Given the description of an element on the screen output the (x, y) to click on. 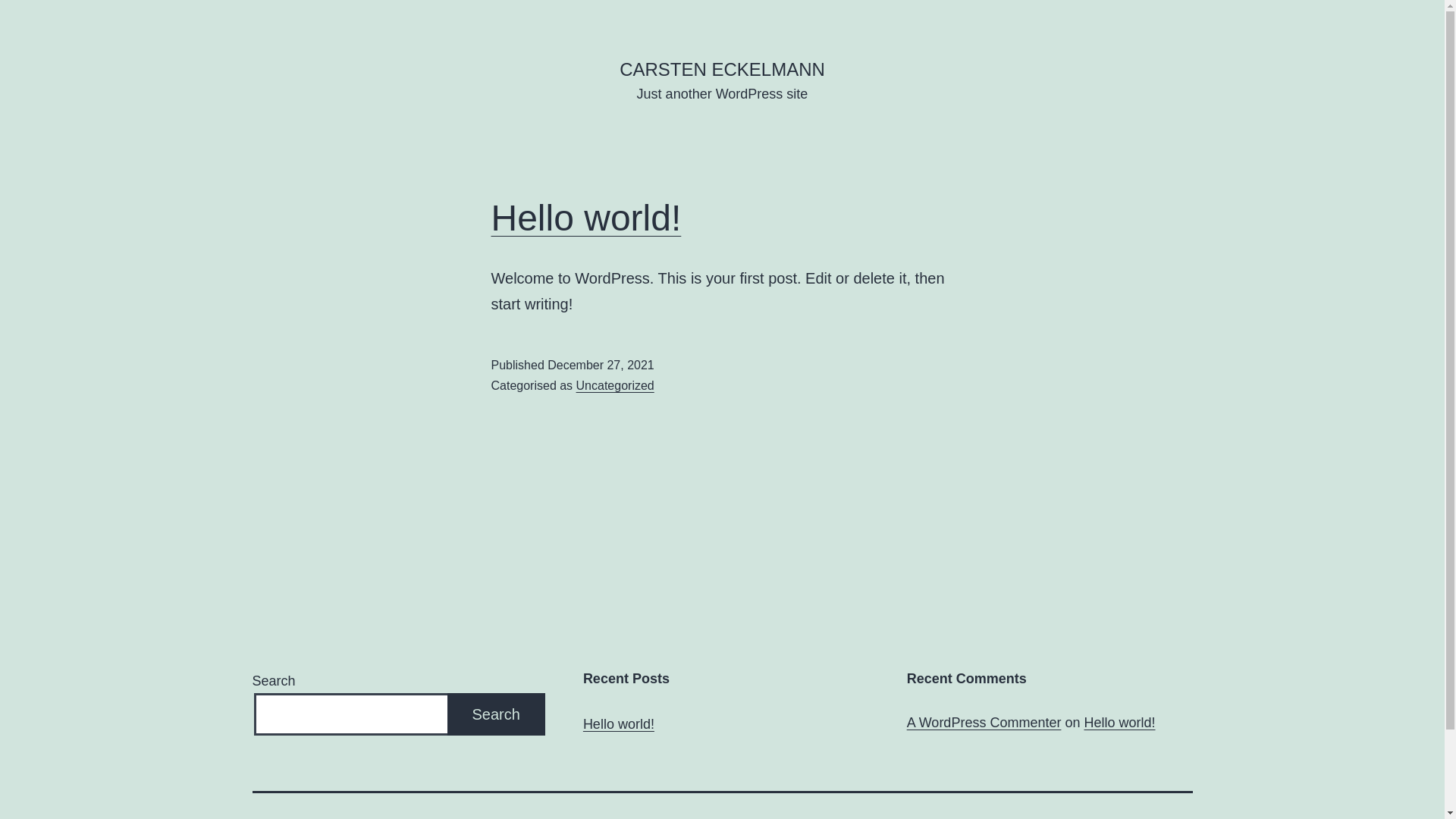
Search Element type: text (496, 714)
A WordPress Commenter Element type: text (983, 722)
Uncategorized Element type: text (615, 385)
Hello world! Element type: text (618, 724)
Hello world! Element type: text (586, 217)
Hello world! Element type: text (1118, 722)
